Given the description of an element on the screen output the (x, y) to click on. 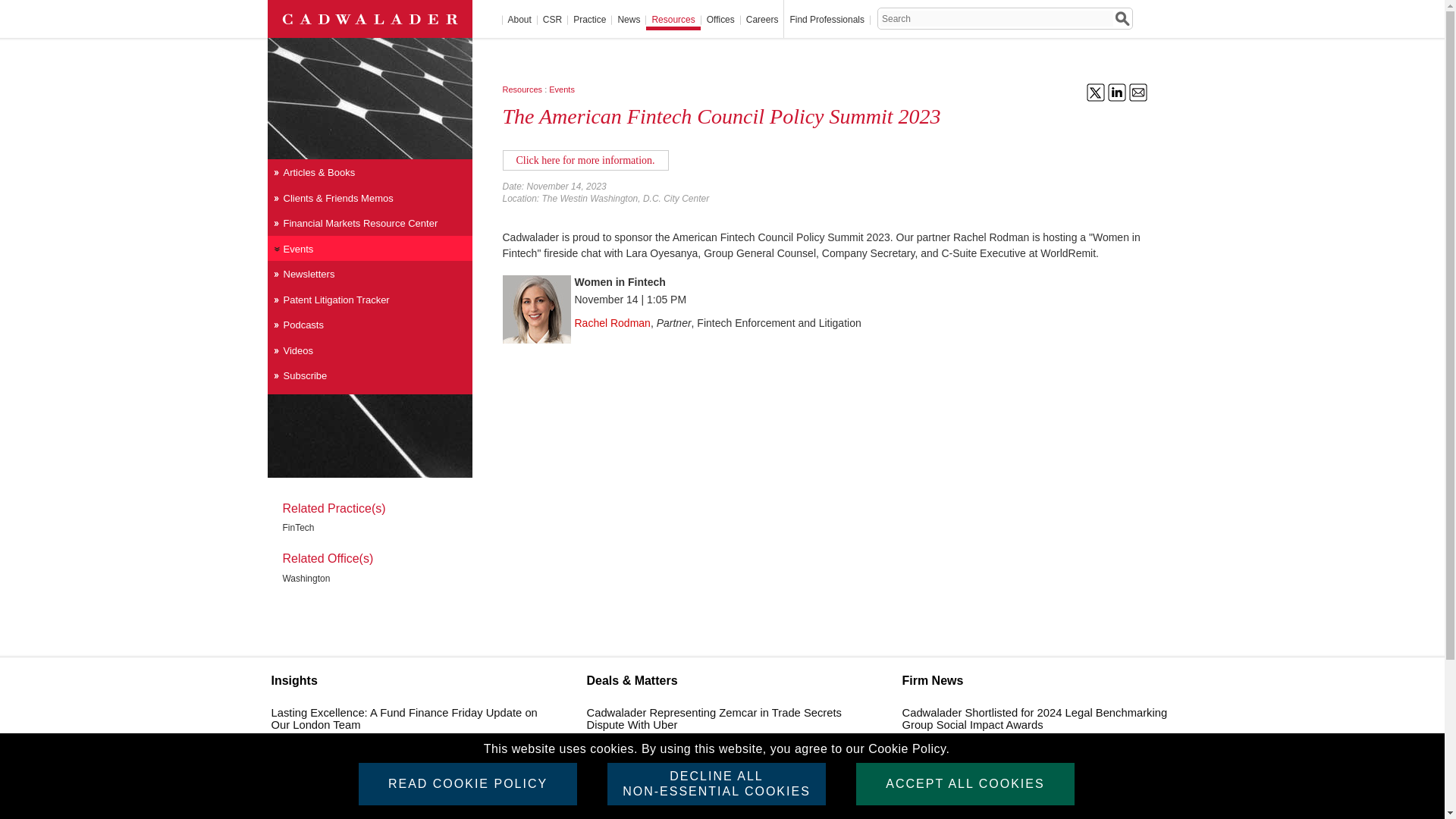
Practice (589, 22)
News (628, 22)
Resources (673, 22)
Search (1122, 18)
About (518, 22)
CSR (552, 22)
READ COOKIE POLICY (467, 783)
